Given the description of an element on the screen output the (x, y) to click on. 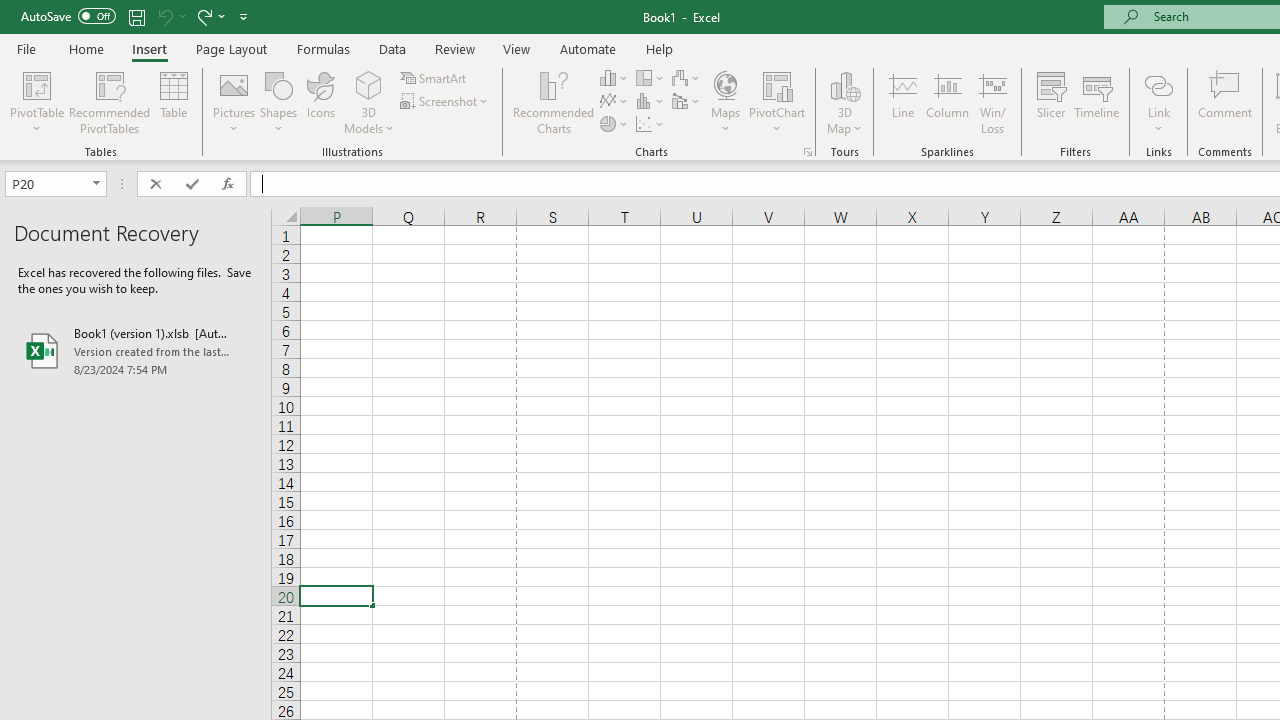
3D Models (368, 102)
Line (902, 102)
Win/Loss (992, 102)
Save (136, 15)
System (10, 11)
Insert Pie or Doughnut Chart (614, 124)
Recommended PivotTables (109, 102)
Customize Quick Access Toolbar (244, 15)
PivotTable (36, 84)
Insert Line or Area Chart (614, 101)
Slicer... (1051, 102)
3D Map (845, 102)
Undo (170, 15)
Home (86, 48)
